Given the description of an element on the screen output the (x, y) to click on. 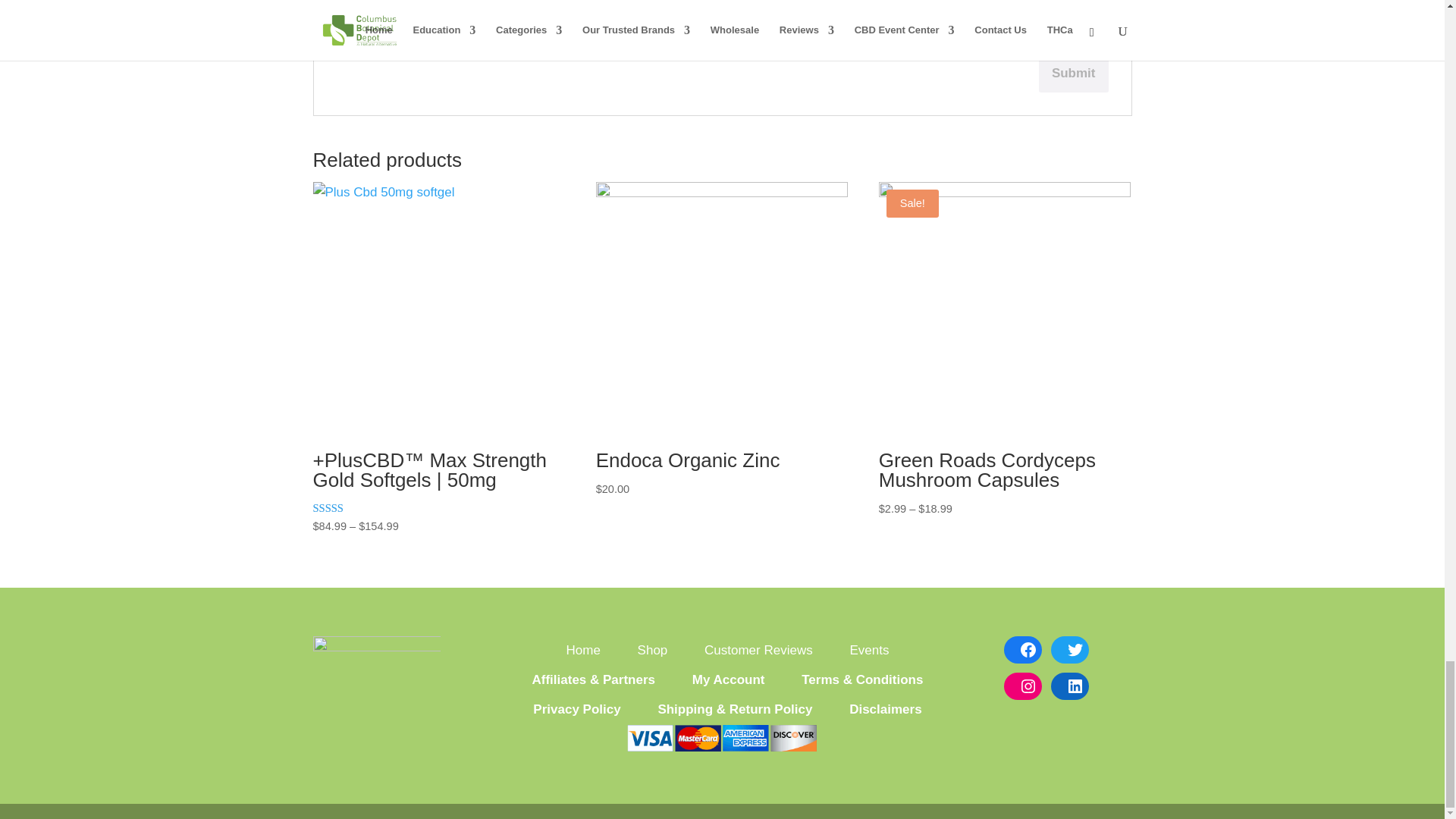
Submit (1073, 73)
